Given the description of an element on the screen output the (x, y) to click on. 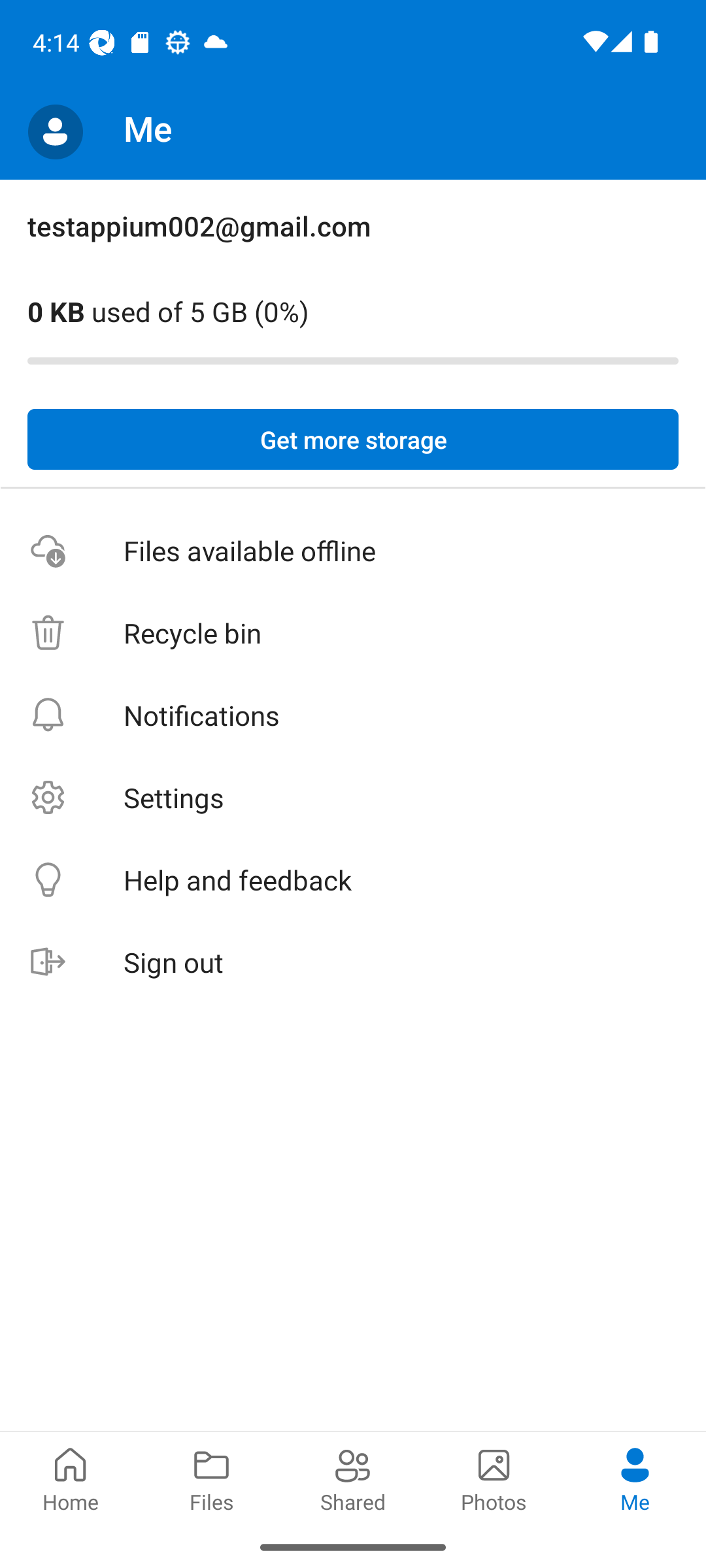
Account switcher (55, 131)
Get more storage (352, 439)
Files available offline (353, 550)
Recycle bin (353, 633)
Notifications (353, 714)
Settings (353, 796)
Help and feedback (353, 879)
Sign out (353, 962)
Home pivot Home (70, 1478)
Files pivot Files (211, 1478)
Shared pivot Shared (352, 1478)
Photos pivot Photos (493, 1478)
